Given the description of an element on the screen output the (x, y) to click on. 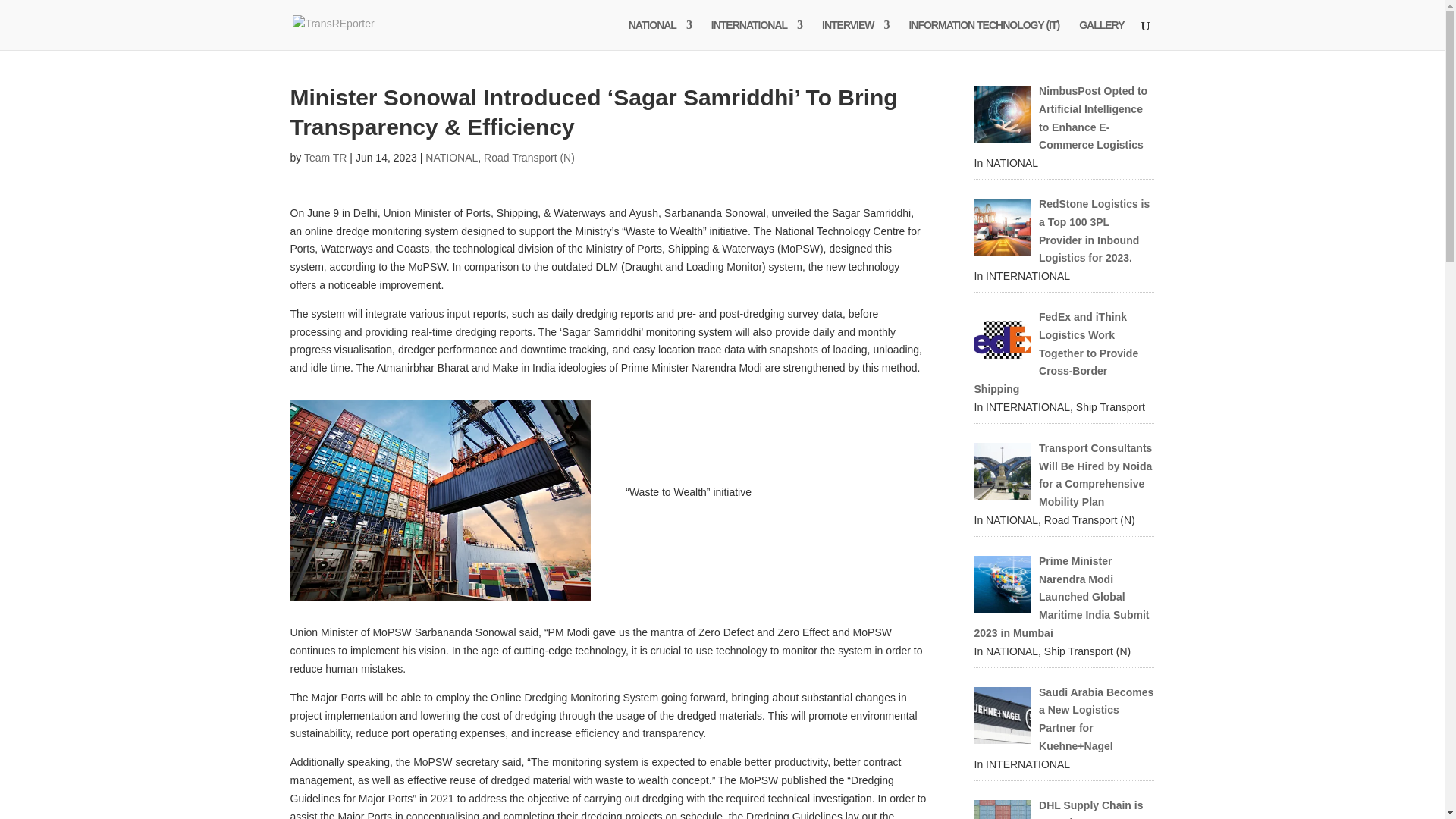
NATIONAL (659, 34)
GALLERY (1101, 34)
NATIONAL (451, 157)
Team TR (325, 157)
INTERVIEW (855, 34)
Posts by Team TR (325, 157)
INTERNATIONAL (756, 34)
